Given the description of an element on the screen output the (x, y) to click on. 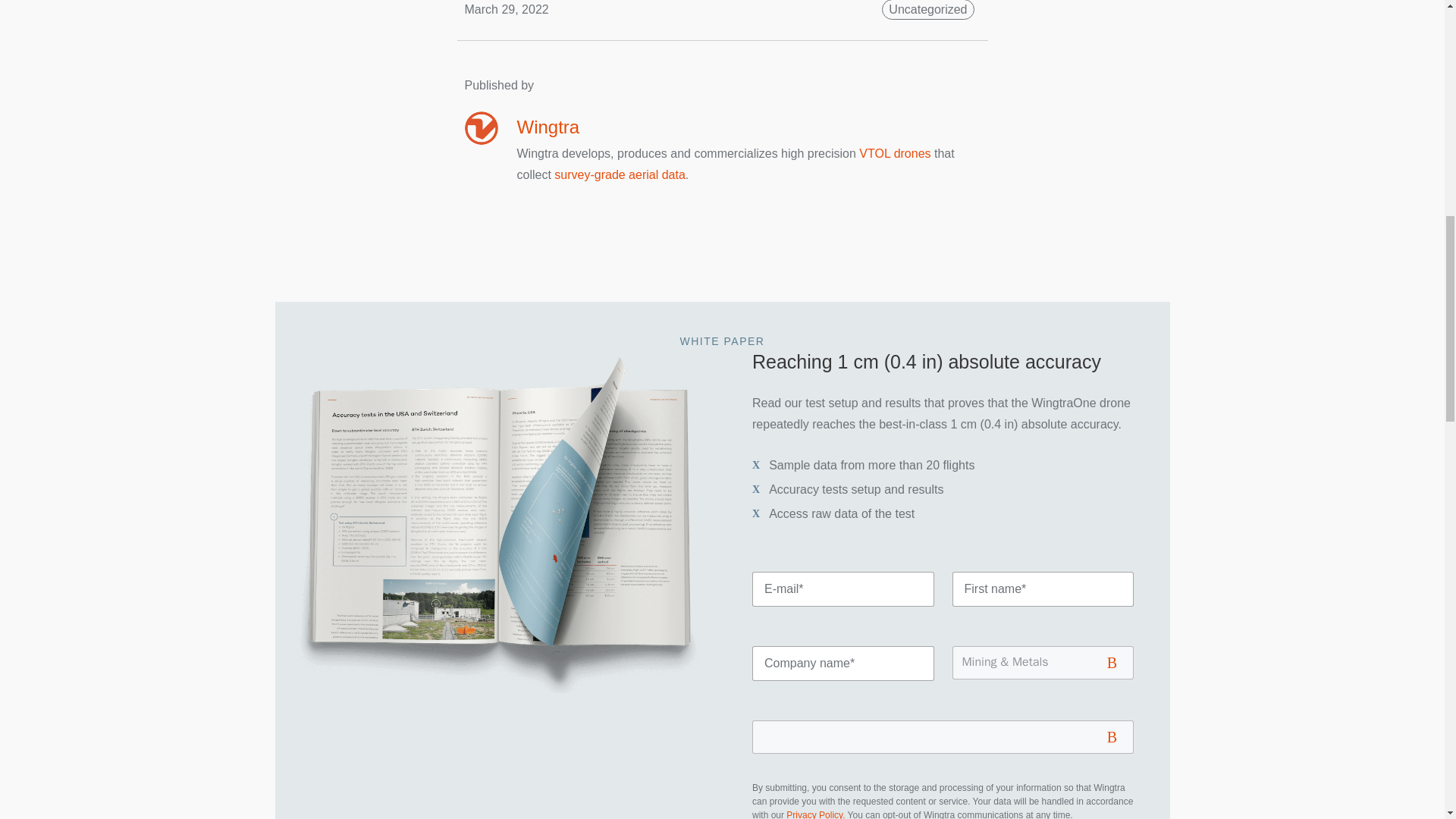
Privacy Policy. (815, 814)
